Given the description of an element on the screen output the (x, y) to click on. 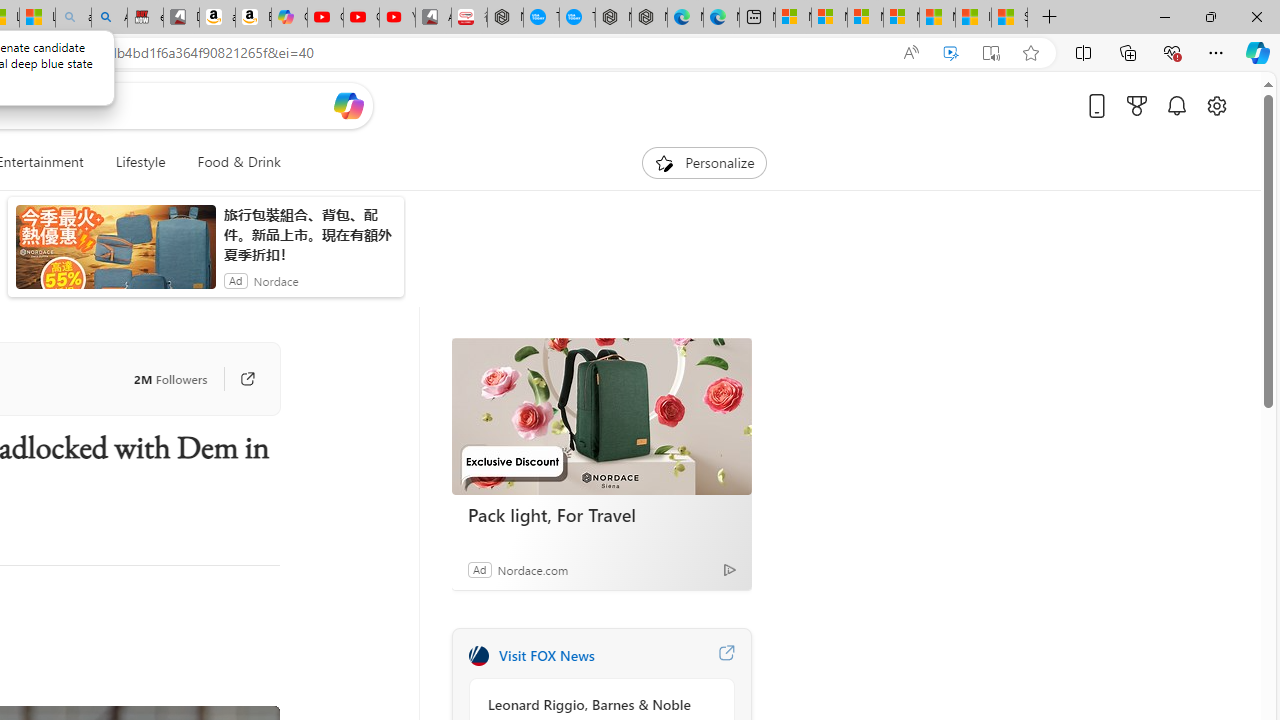
Pack light, For Travel (601, 515)
Nordace - Nordace has arrived Hong Kong (649, 17)
The most popular Google 'how to' searches (577, 17)
Copilot (289, 17)
amazon - Search - Sleeping (73, 17)
Visit FOX News website (726, 655)
